Given the description of an element on the screen output the (x, y) to click on. 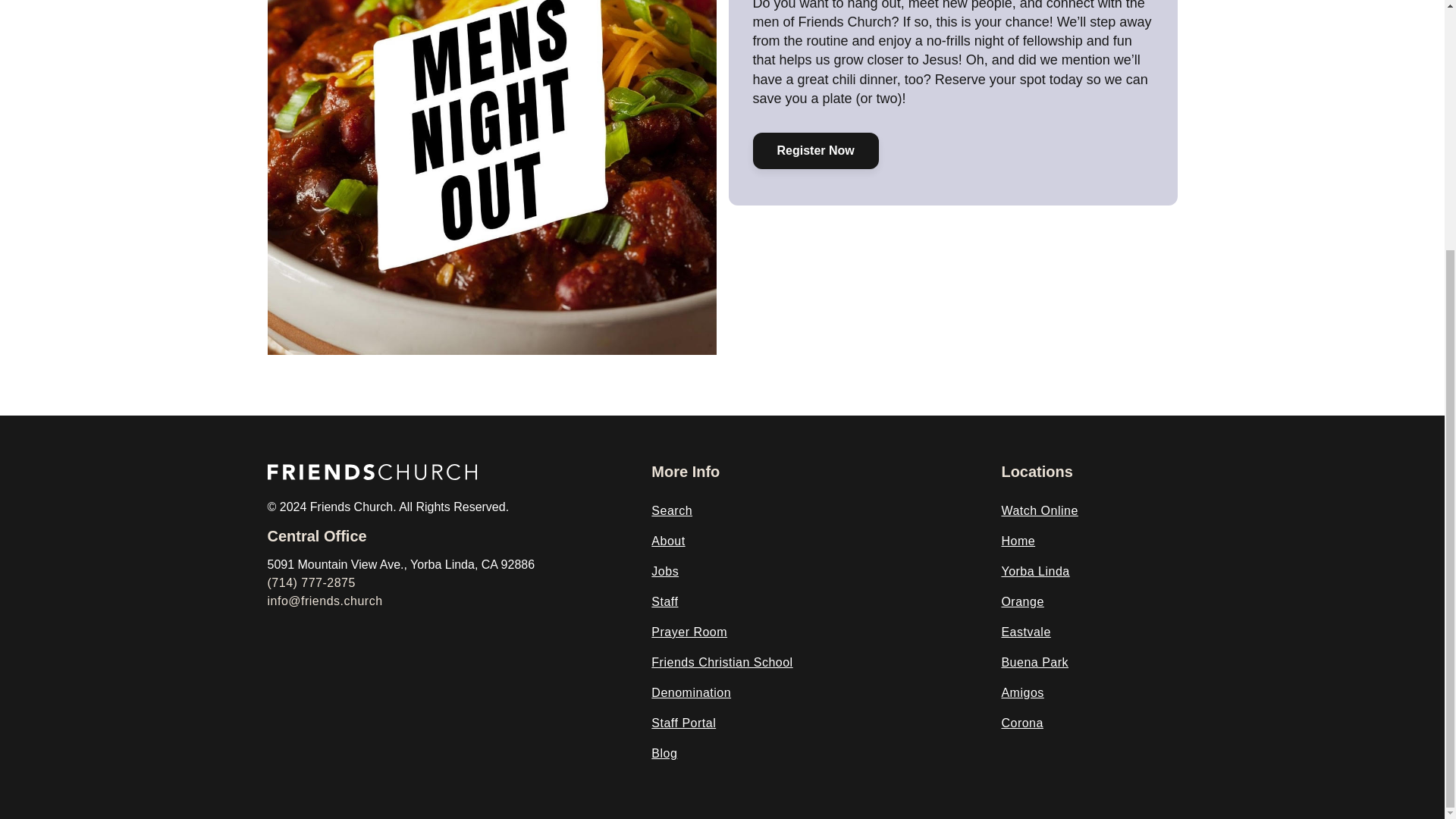
Register Now (814, 150)
Staff (664, 601)
Search (671, 510)
Jobs (664, 571)
About (667, 541)
